Given the description of an element on the screen output the (x, y) to click on. 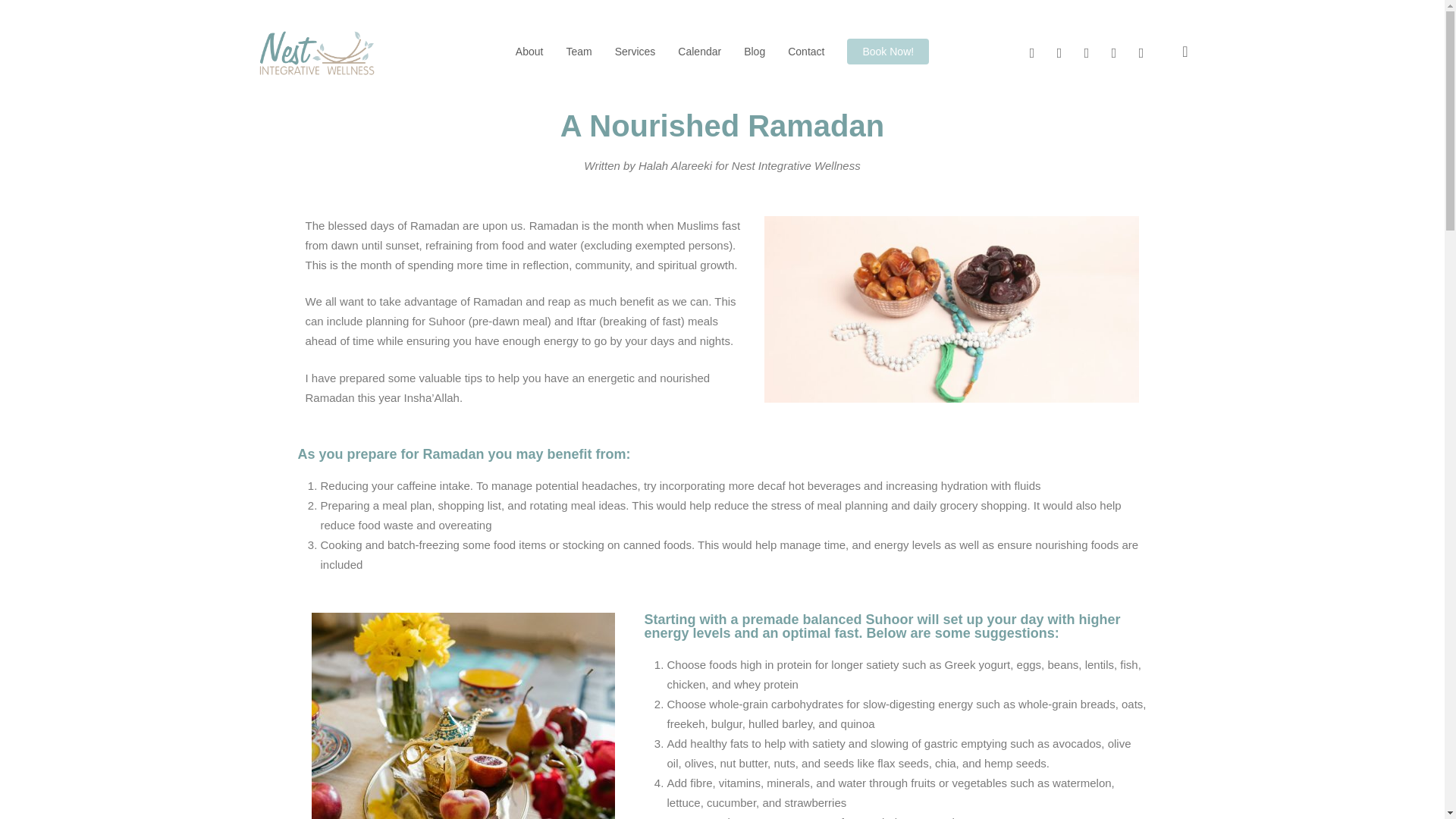
Book Now! (887, 51)
Calendar (699, 51)
Services (635, 51)
Blog (754, 51)
About (528, 51)
Team (578, 51)
Contact (805, 51)
search (1184, 51)
